Given the description of an element on the screen output the (x, y) to click on. 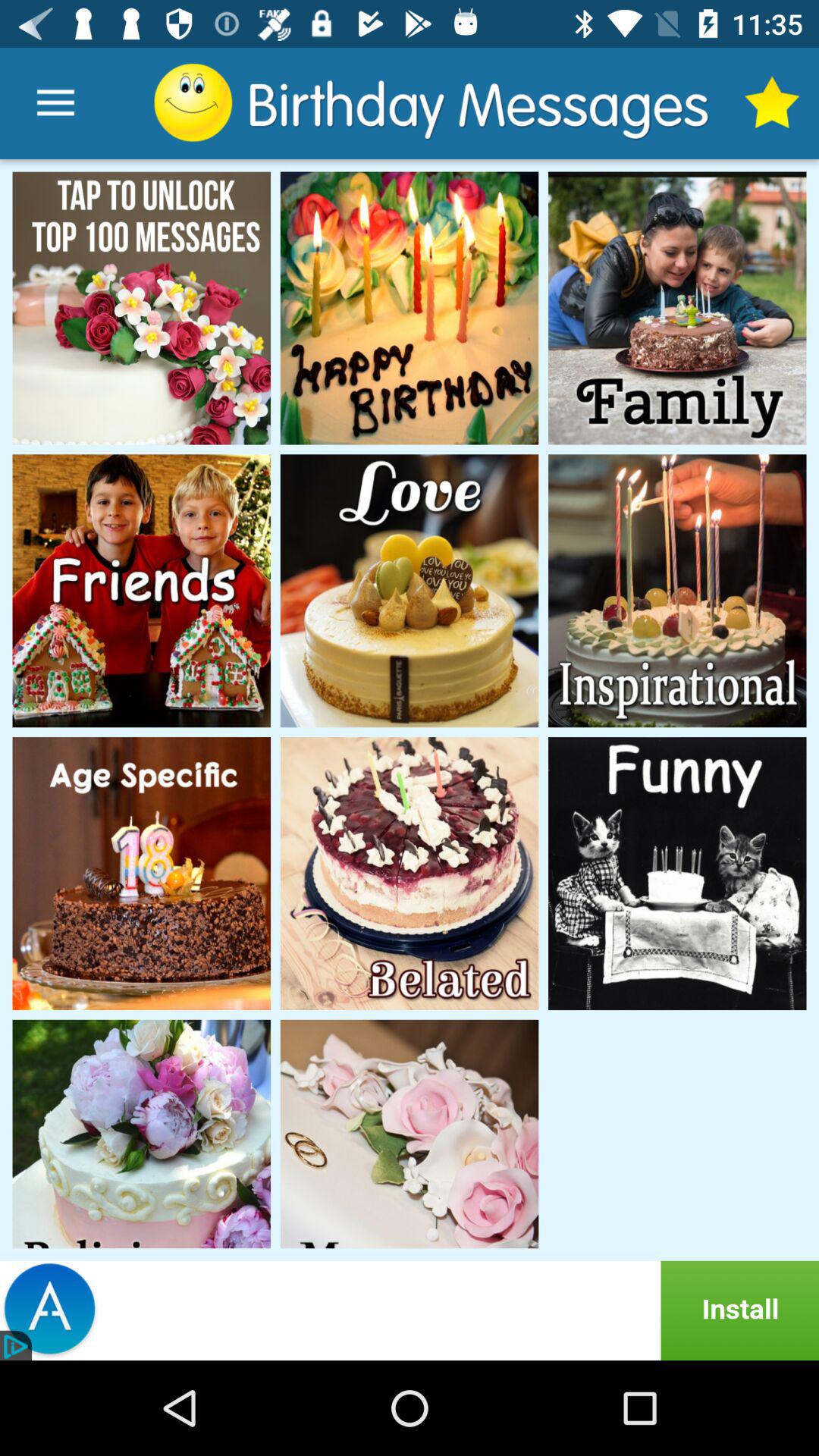
go to first option in second row (142, 590)
